Given the description of an element on the screen output the (x, y) to click on. 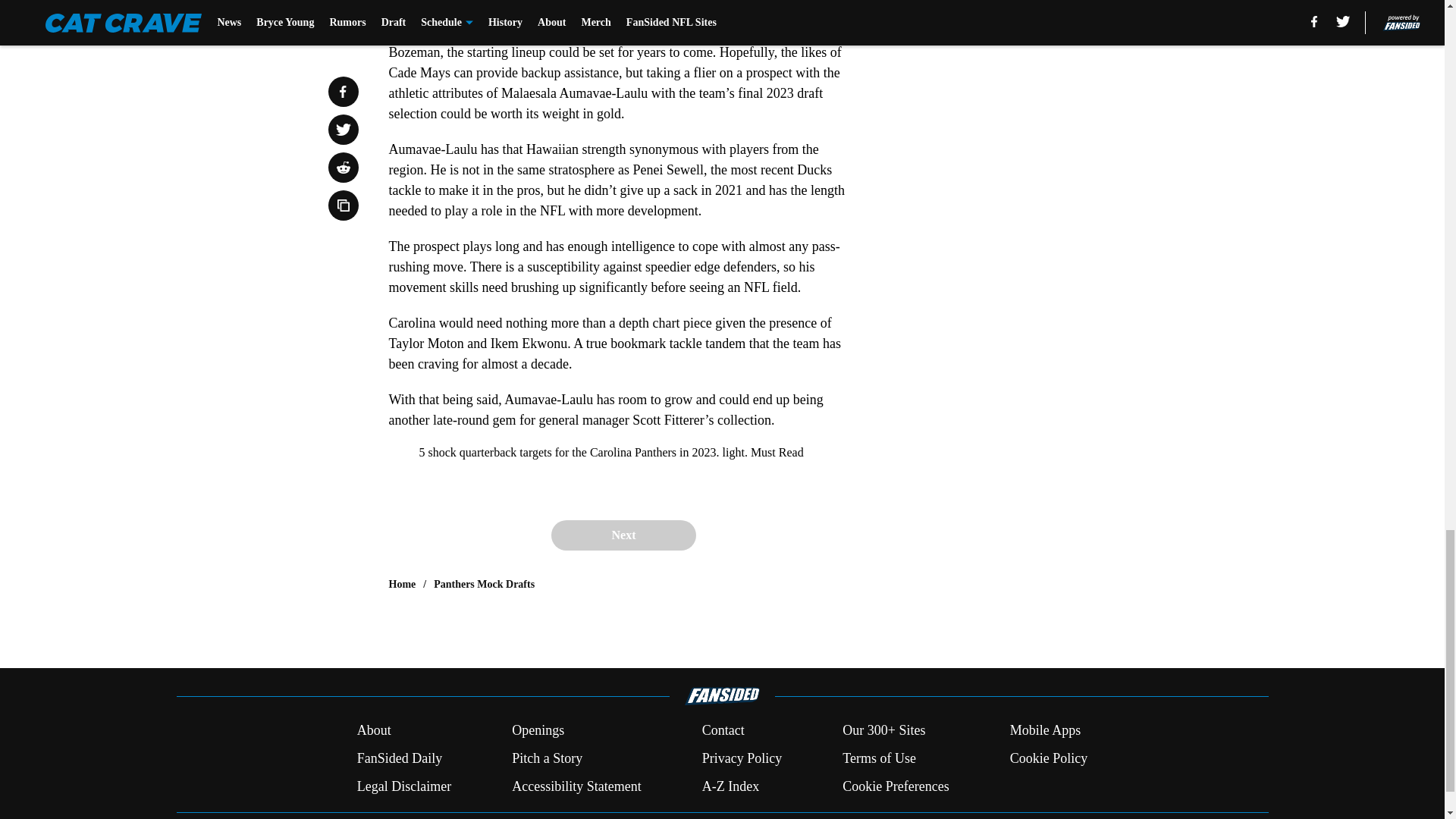
A-Z Index (729, 786)
Cookie Policy (1048, 758)
Contact (722, 730)
Legal Disclaimer (403, 786)
Panthers Mock Drafts (483, 584)
FanSided Daily (399, 758)
About (373, 730)
Openings (538, 730)
Mobile Apps (1045, 730)
Terms of Use (879, 758)
